Given the description of an element on the screen output the (x, y) to click on. 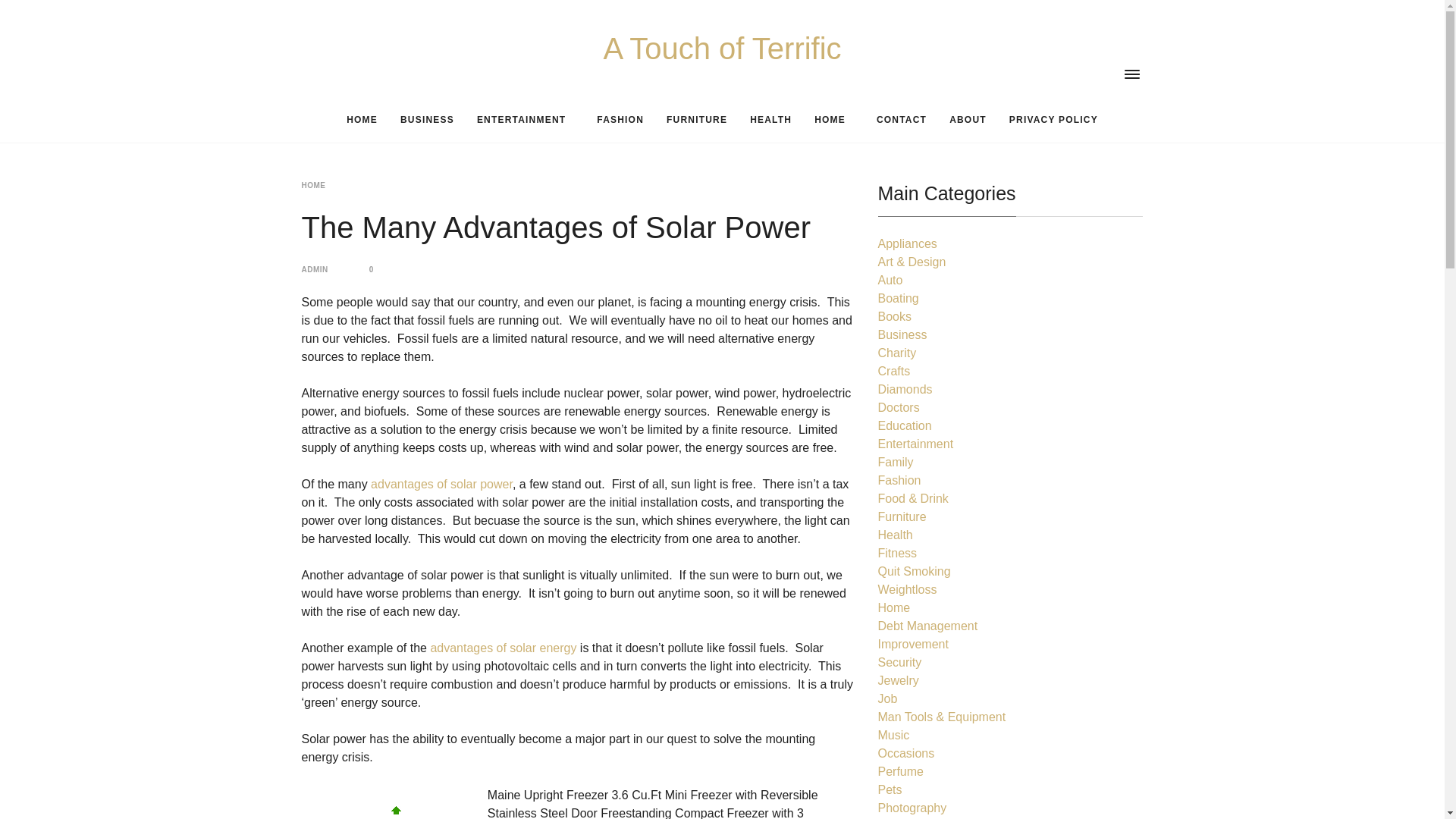
FASHION (620, 119)
HEALTH (770, 119)
HOME (361, 119)
BUSINESS (426, 119)
ENTERTAINMENT (525, 119)
HOME (833, 119)
A Touch of Terrific (721, 48)
FURNITURE (696, 119)
